Given the description of an element on the screen output the (x, y) to click on. 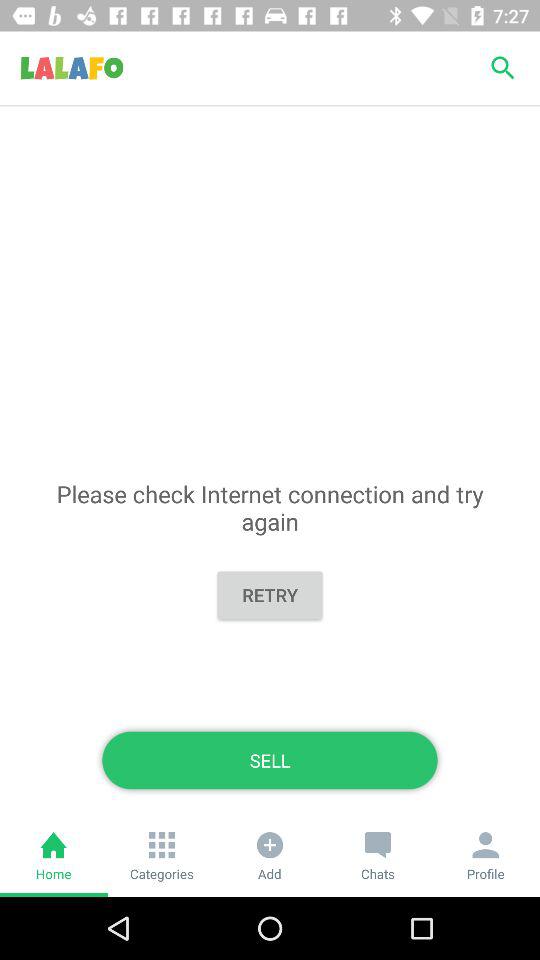
select the icon above the sell (269, 594)
